Given the description of an element on the screen output the (x, y) to click on. 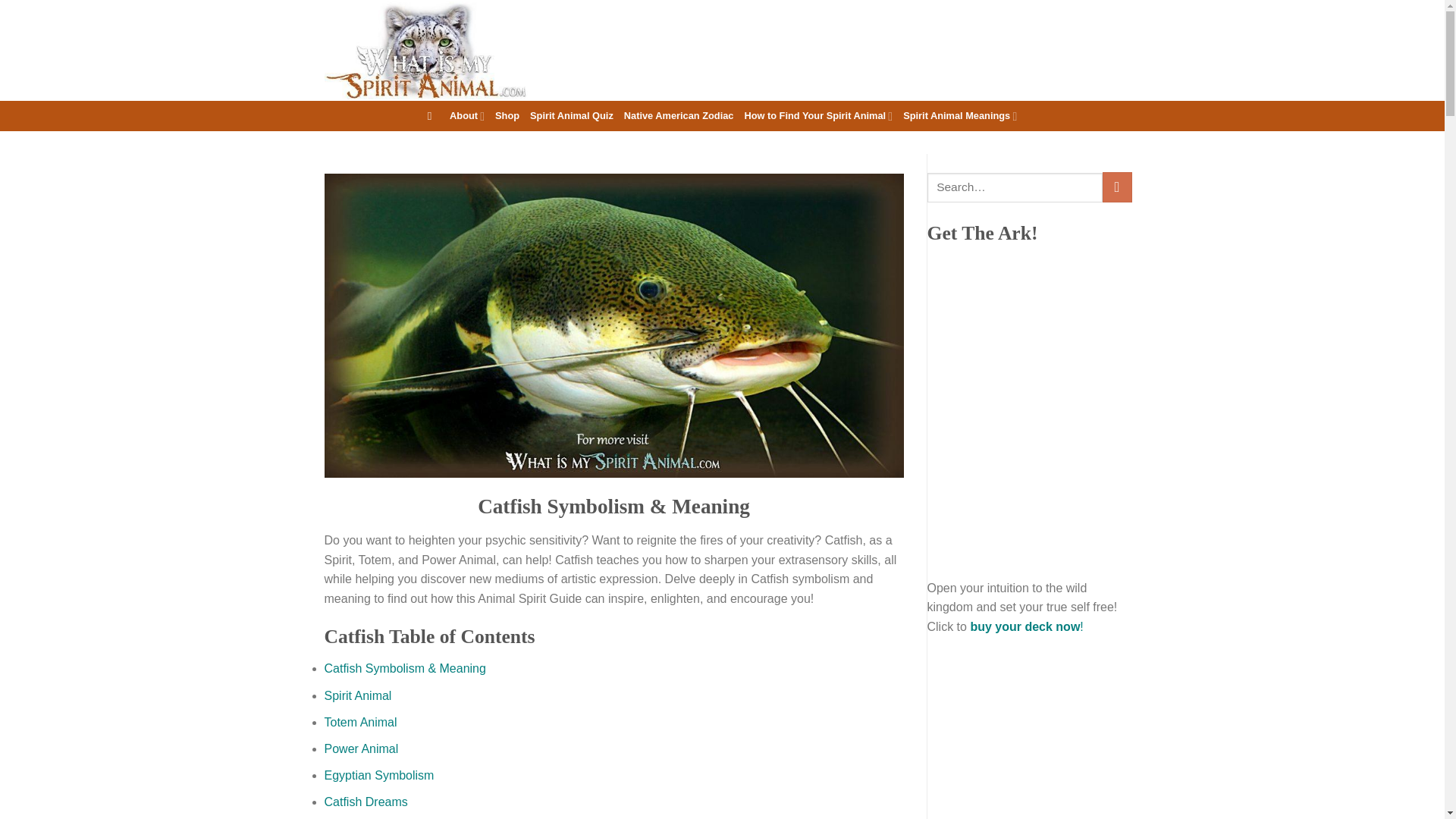
Spirit Animal Meanings (959, 115)
Native American Zodiac (678, 115)
Egyptian Symbolism (378, 775)
Totem Animal (360, 721)
How to Find Your Spirit Animal (818, 115)
Catfish Dreams (365, 801)
Spirit Animal (357, 695)
About (466, 115)
Power Animal (361, 748)
Spirit Animal Quiz (570, 115)
